Given the description of an element on the screen output the (x, y) to click on. 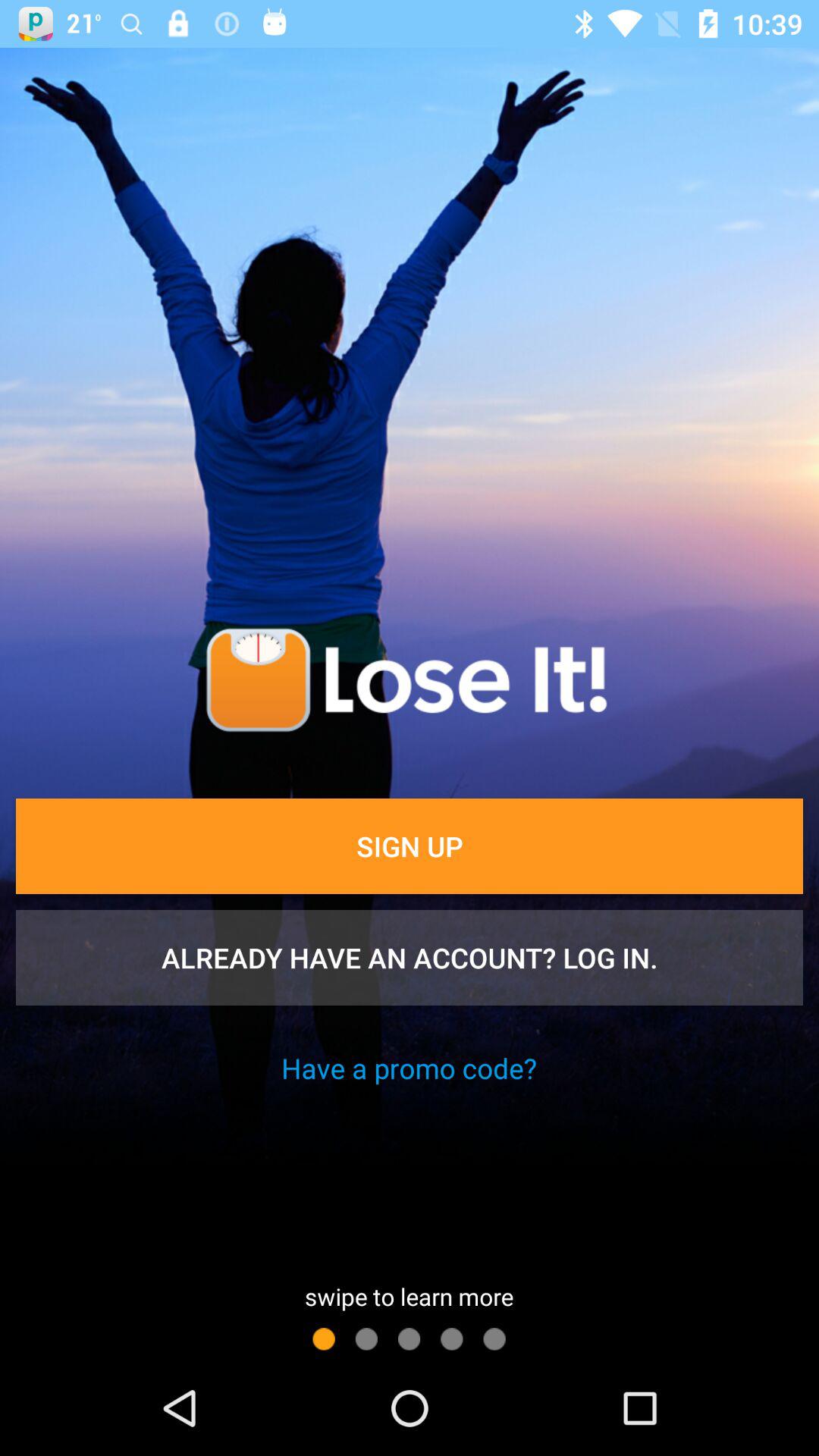
turn on item below the sign up (409, 957)
